Given the description of an element on the screen output the (x, y) to click on. 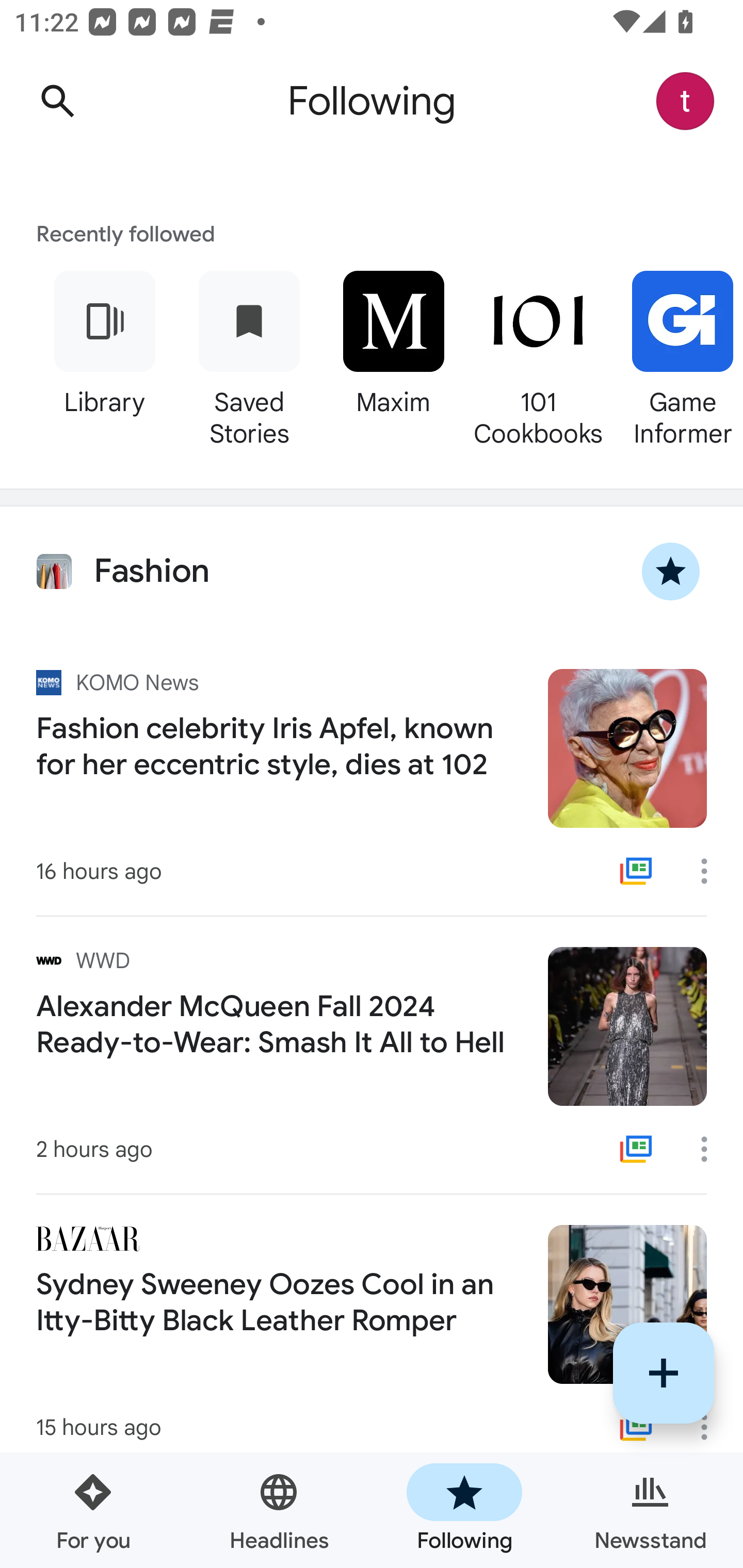
Search (57, 100)
Library (104, 355)
Saved Stories (248, 355)
Maxim (393, 355)
101 Cookbooks (537, 355)
Game Informer (676, 355)
Fashion Fashion Unfollow (371, 571)
Unfollow (670, 571)
More options (711, 870)
More options (711, 1149)
Follow (663, 1372)
More options (711, 1426)
For you (92, 1509)
Headlines (278, 1509)
Following (464, 1509)
Newsstand (650, 1509)
